Given the description of an element on the screen output the (x, y) to click on. 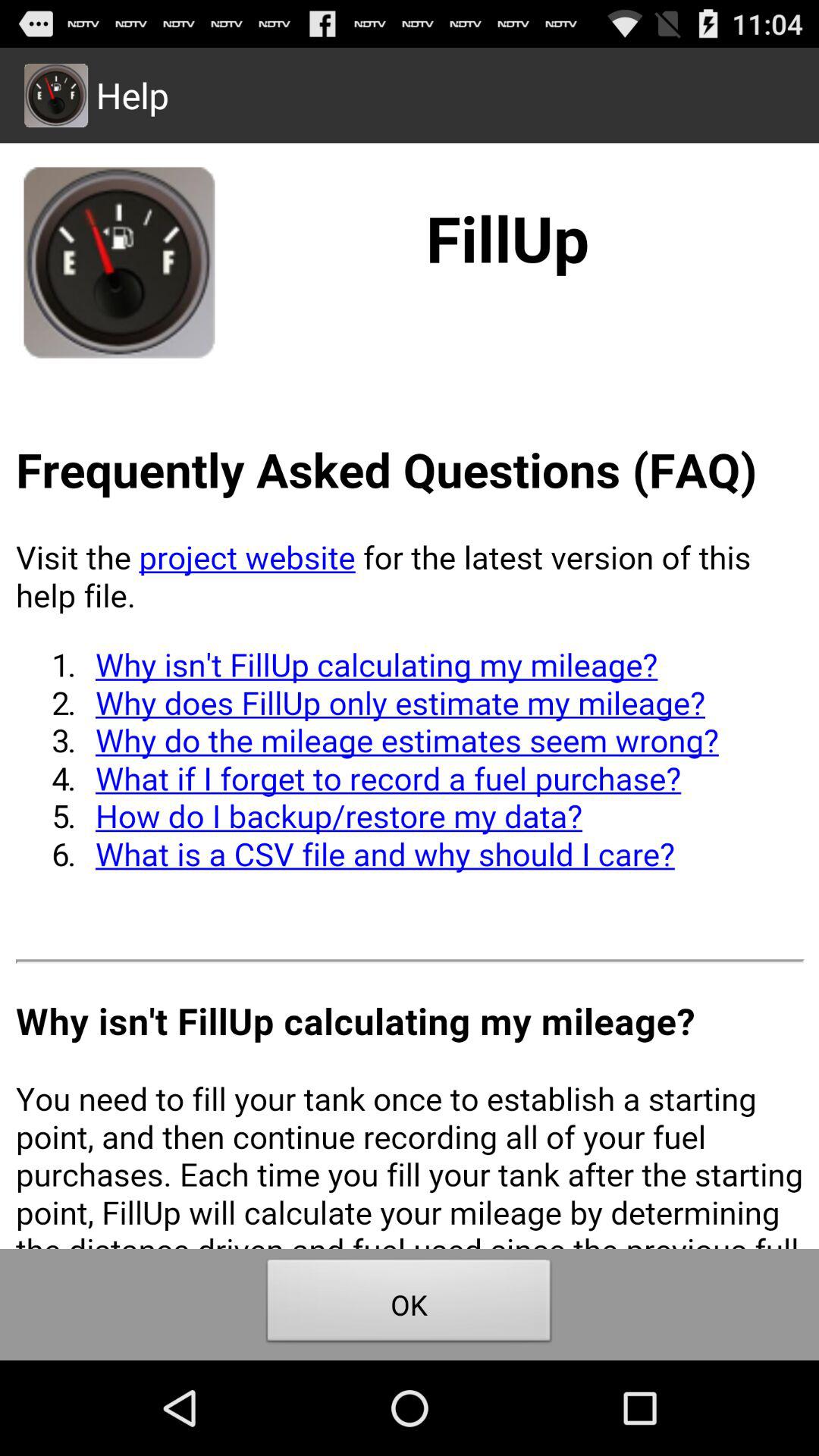
view page (409, 695)
